Given the description of an element on the screen output the (x, y) to click on. 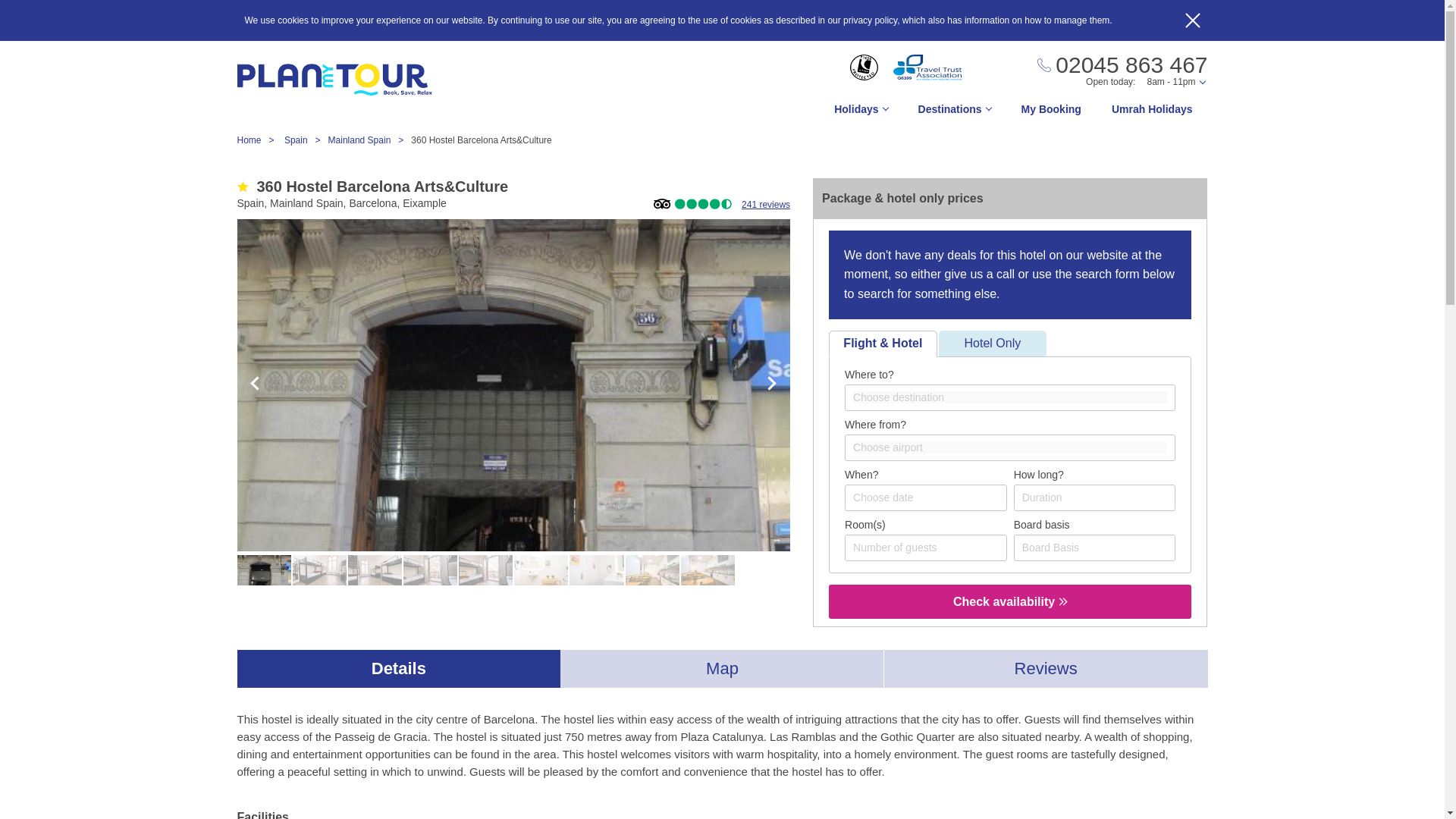
Holidays (860, 112)
Destinations (954, 112)
02045 863 467 (1121, 65)
